Given the description of an element on the screen output the (x, y) to click on. 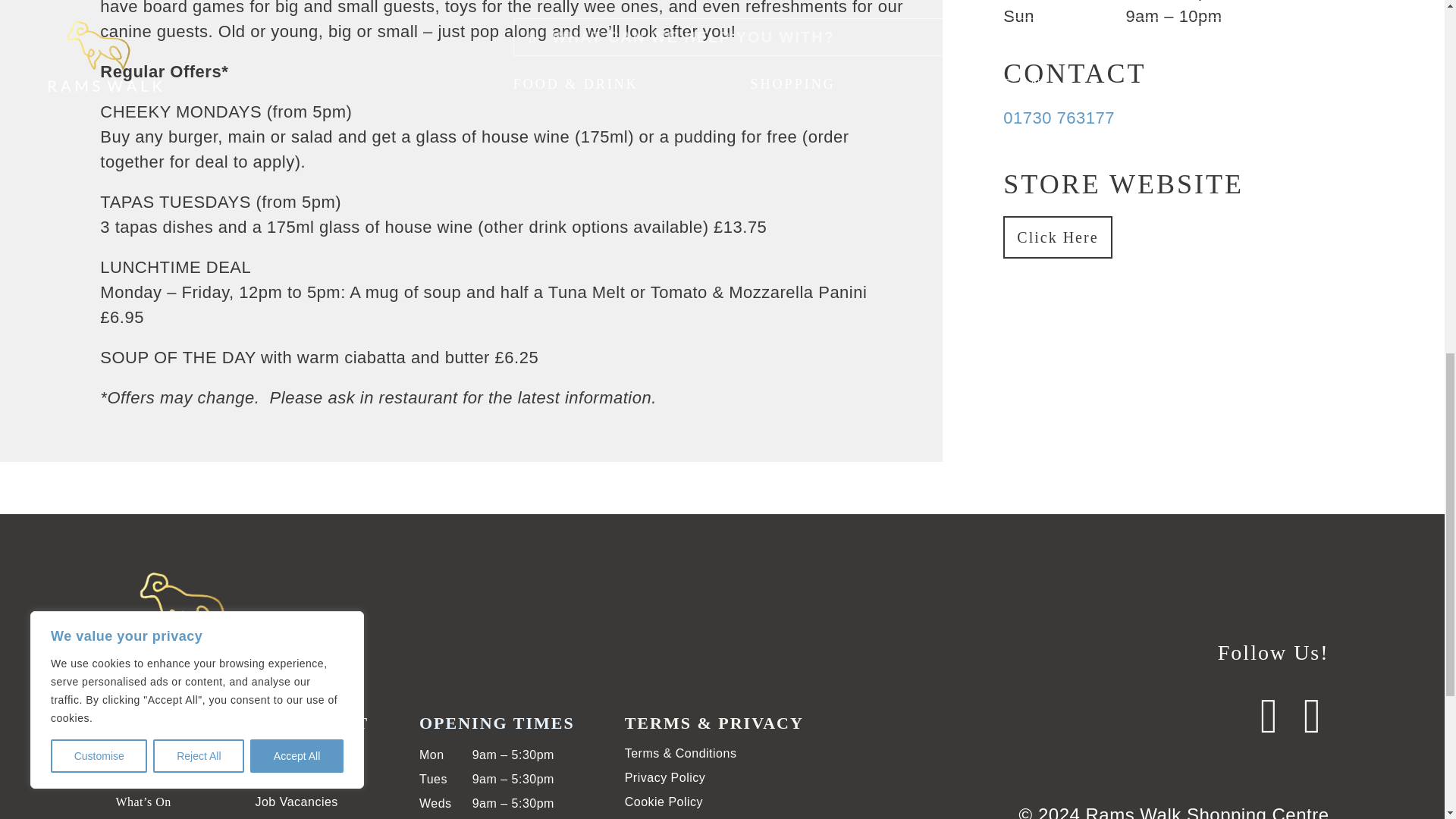
Rams Walk Logo colour (190, 617)
Click Here (1057, 237)
Shopping (139, 777)
01730 763177 (1059, 117)
